Given the description of an element on the screen output the (x, y) to click on. 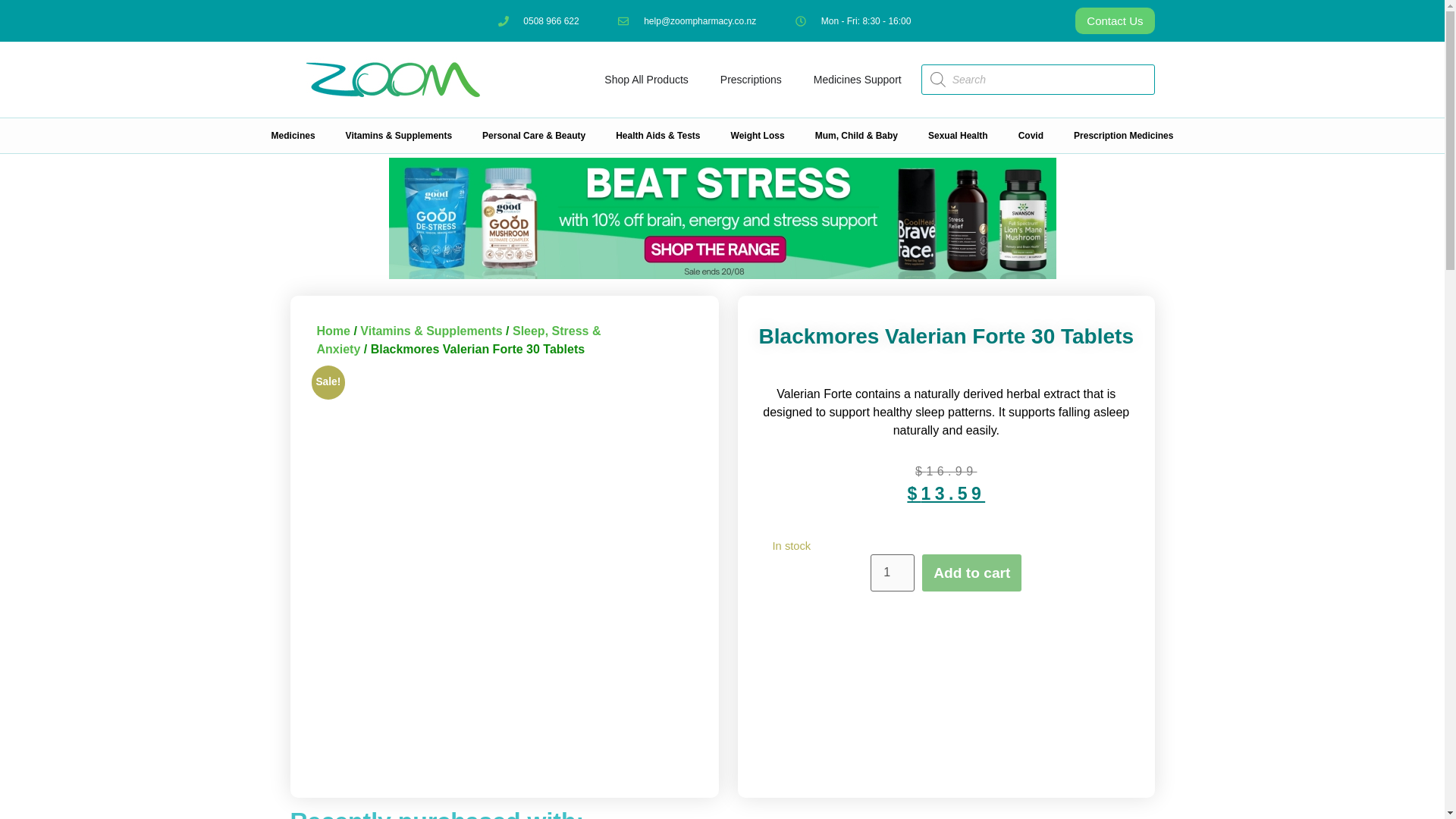
Shop All Products (646, 78)
Medicines Support (857, 78)
Contact Us (1114, 20)
1 (892, 572)
Prescriptions (750, 78)
0508 966 622 (537, 20)
